Given the description of an element on the screen output the (x, y) to click on. 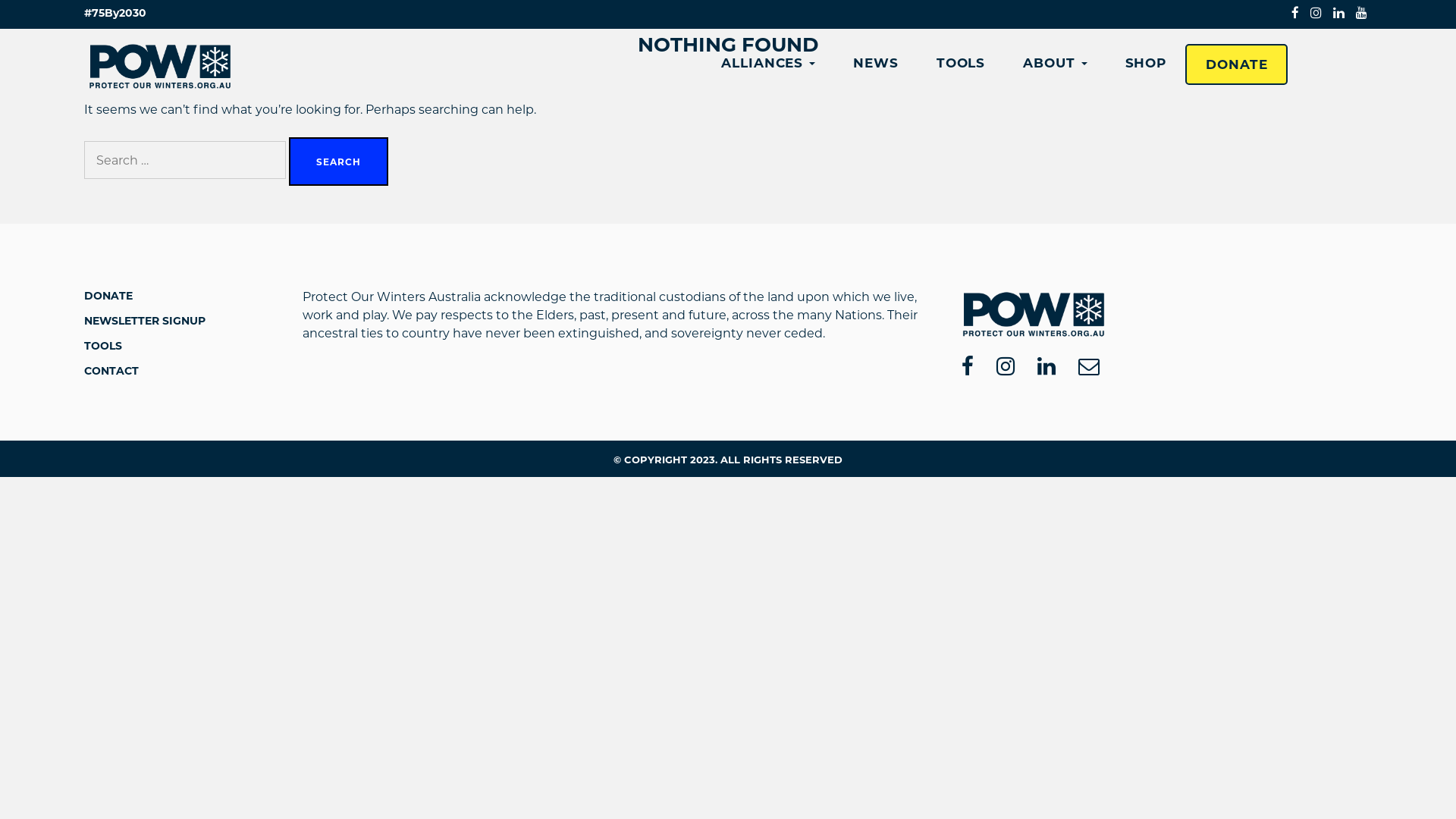
DONATE Element type: text (108, 295)
TOOLS Element type: text (960, 62)
TOOLS Element type: text (103, 345)
CONTACT Element type: text (111, 370)
NEWS Element type: text (875, 62)
DONATE Element type: text (1236, 64)
#75By2030 Element type: text (115, 12)
ALLIANCES Element type: text (767, 62)
ABOUT Element type: text (1054, 62)
Search Element type: text (338, 161)
NEWSLETTER SIGNUP Element type: text (144, 320)
SHOP Element type: text (1145, 62)
